Given the description of an element on the screen output the (x, y) to click on. 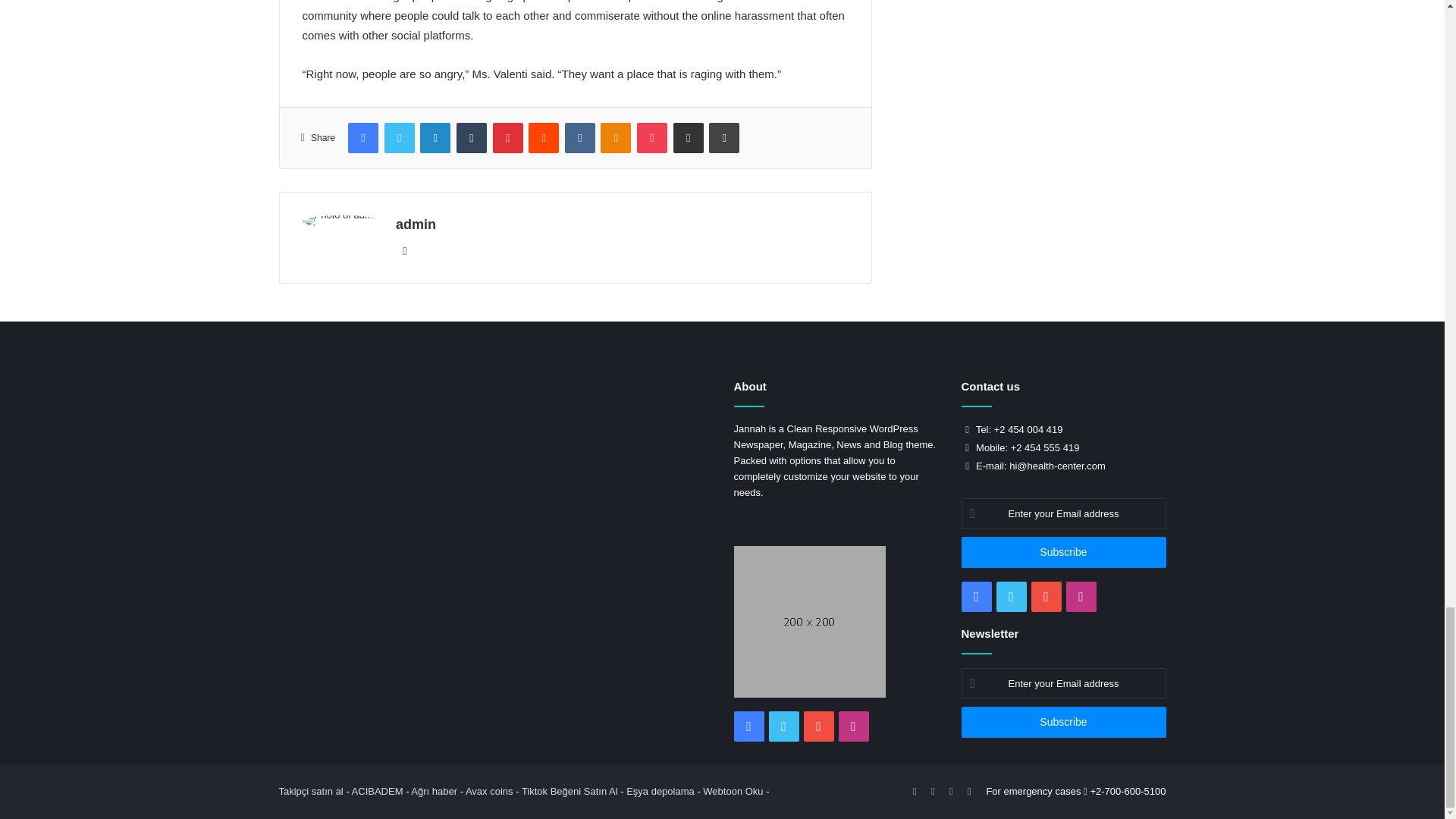
Subscribe (1063, 552)
Subscribe (1063, 721)
